Given the description of an element on the screen output the (x, y) to click on. 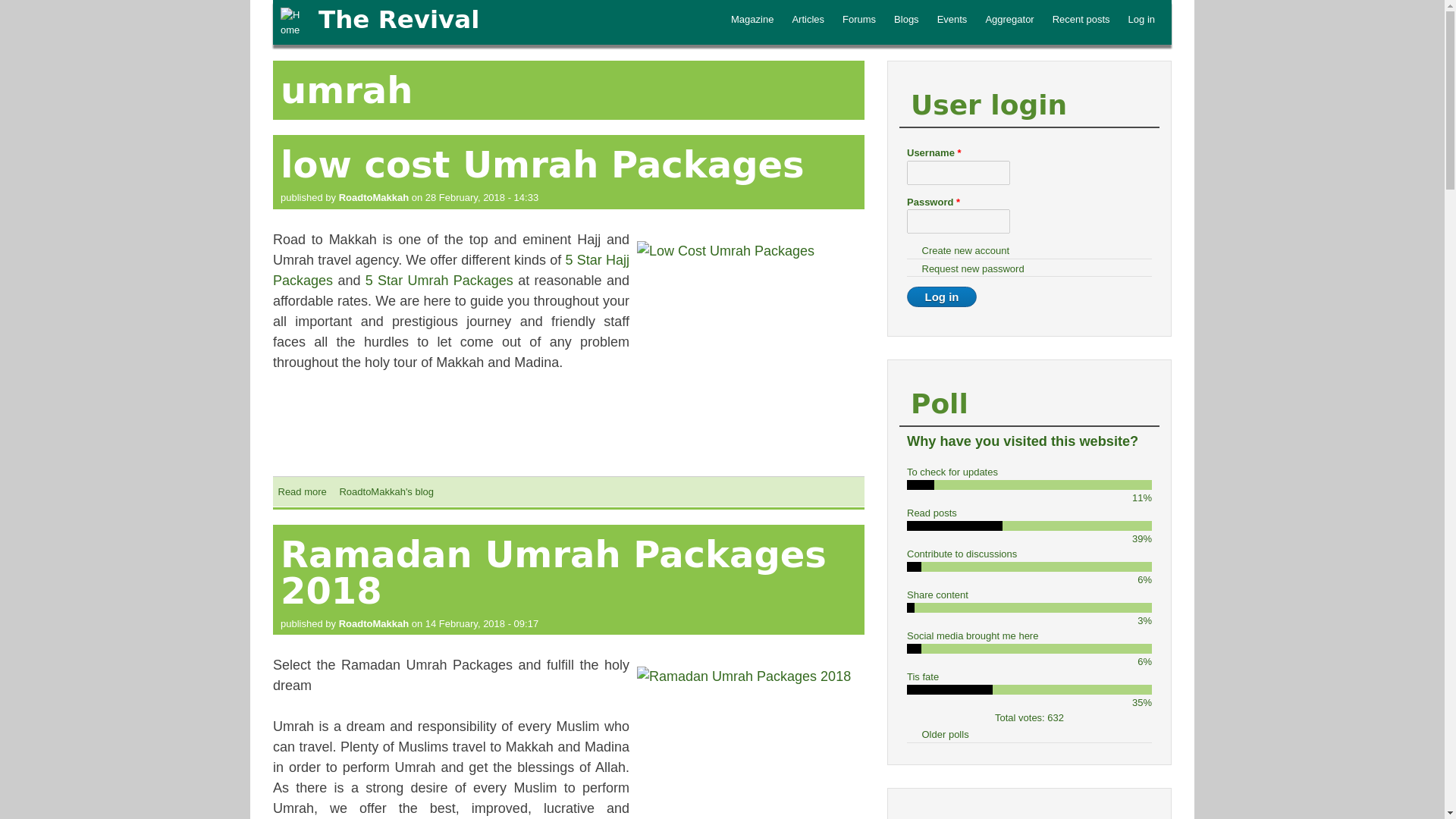
Read RoadtoMakkah's latest blog entries. (386, 490)
Articles (807, 19)
Low Cost Umrah Packages (750, 354)
low cost Umrah Packages (543, 164)
Log in (1141, 19)
Blogs (906, 19)
Ramadan Umrah Packages 2018 (554, 571)
Click here to log in or create a new account (1141, 19)
Muslim Discussion forums (858, 19)
Events (952, 19)
Ramadan Umrah Packages 2018 (750, 742)
Browse published magazines by issue (752, 19)
Forums (858, 19)
The Revival (398, 19)
low cost Umrah Packages  (302, 490)
